Given the description of an element on the screen output the (x, y) to click on. 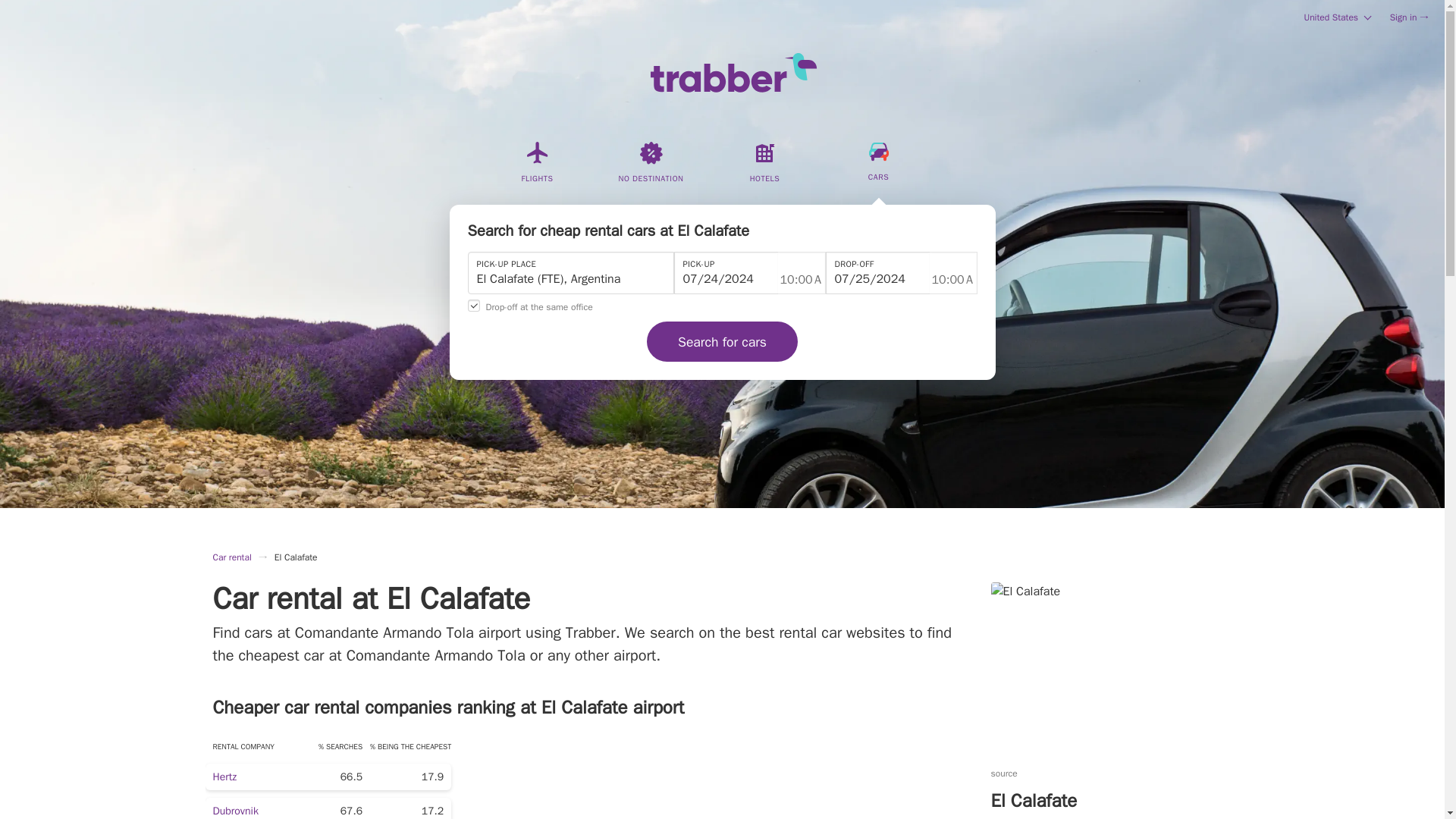
FLIGHTS (537, 171)
United States (1336, 16)
NO DESTINATION (650, 171)
